Given the description of an element on the screen output the (x, y) to click on. 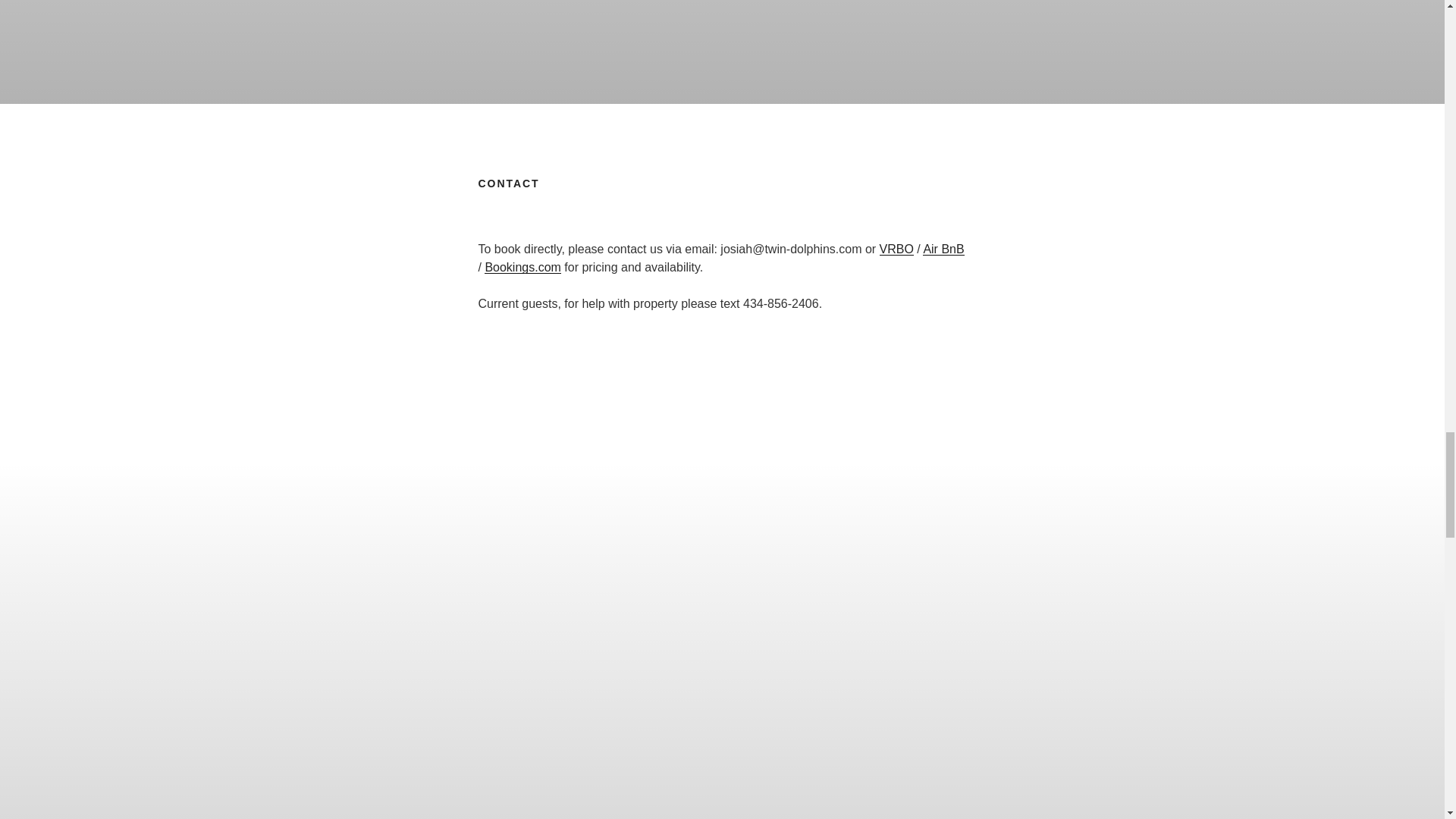
VRBO (896, 248)
Bookings.com (522, 267)
Air BnB (943, 248)
